Given the description of an element on the screen output the (x, y) to click on. 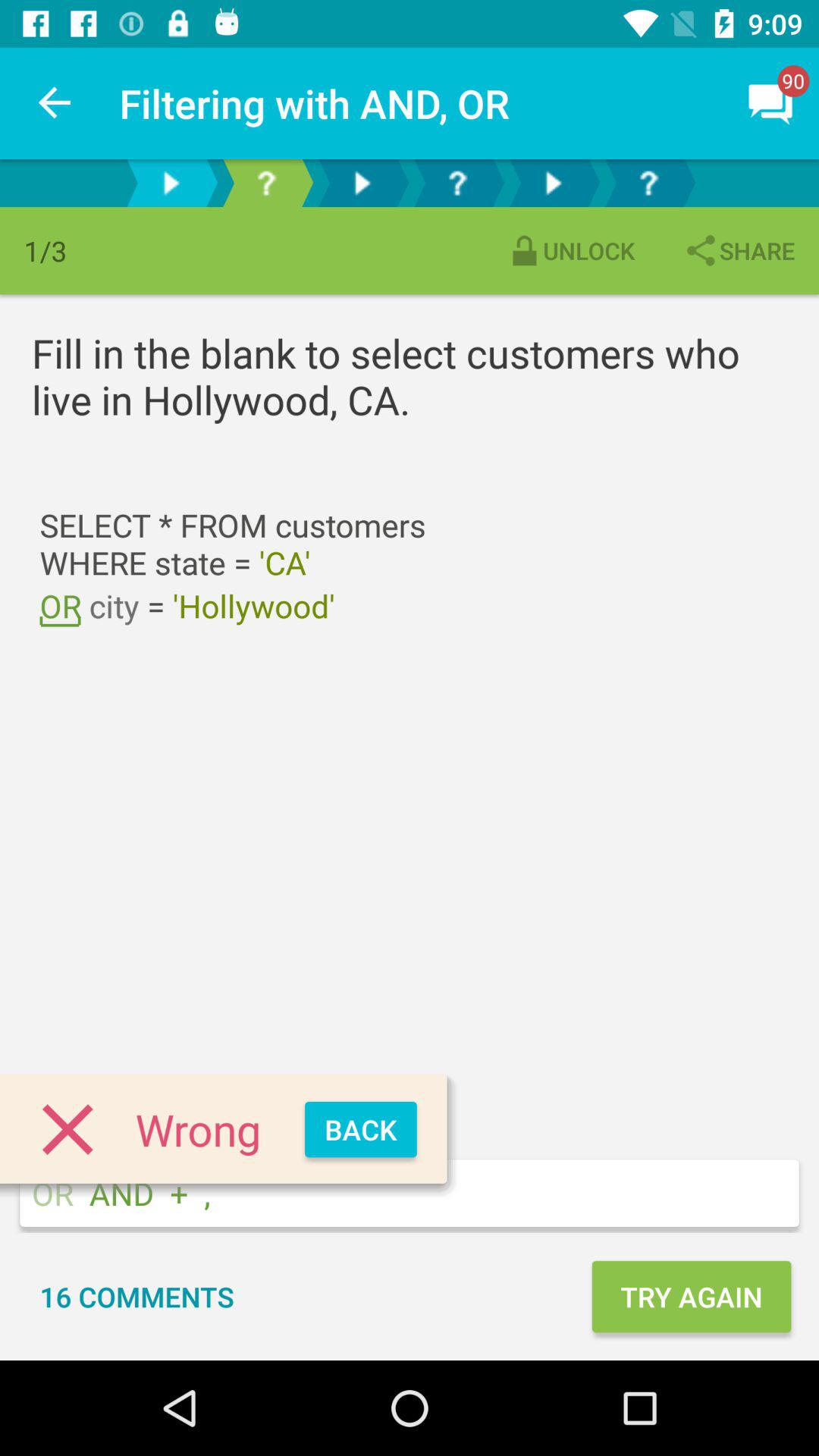
turn on the icon next to the 16 comments (691, 1296)
